Given the description of an element on the screen output the (x, y) to click on. 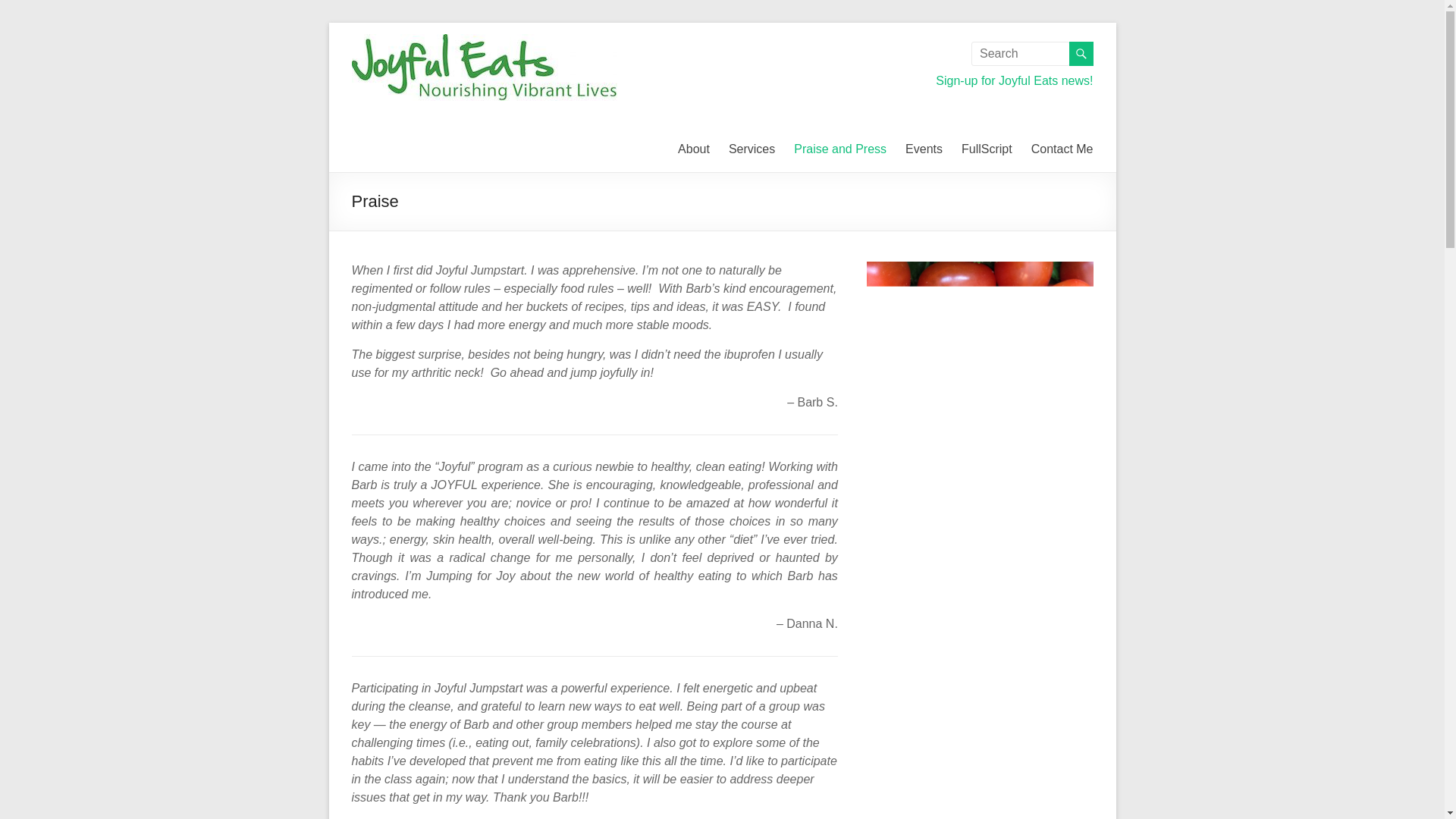
Services (751, 149)
About (694, 149)
Joyful Eats (386, 68)
Joyful Eats News (1014, 80)
Contact Me (1061, 149)
Sign-up for Joyful Eats news! (1014, 80)
Joyful Eats (386, 68)
Events (923, 149)
FullScript (985, 149)
